Given the description of an element on the screen output the (x, y) to click on. 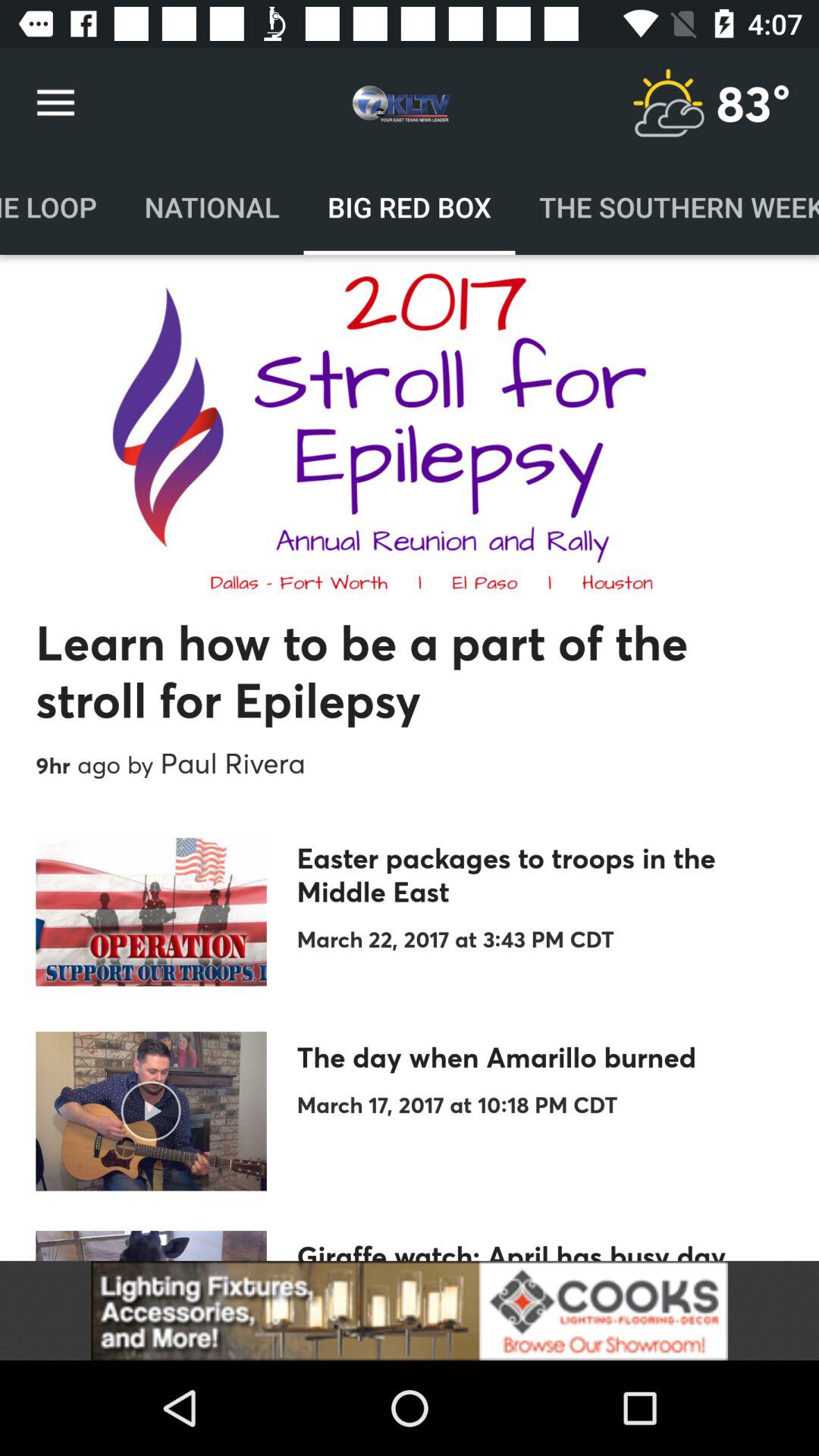
temperature button (668, 103)
